Given the description of an element on the screen output the (x, y) to click on. 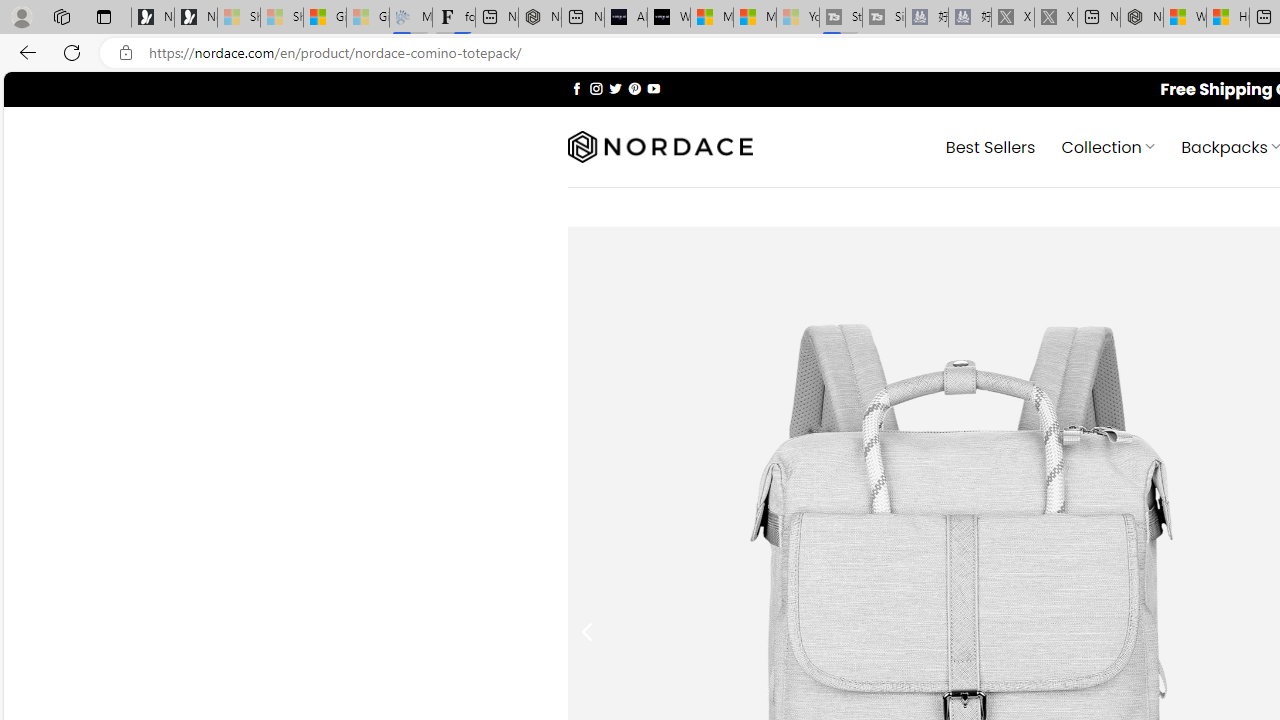
Follow on Facebook (576, 88)
  Best Sellers (989, 146)
Microsoft Start Sports (712, 17)
